Given the description of an element on the screen output the (x, y) to click on. 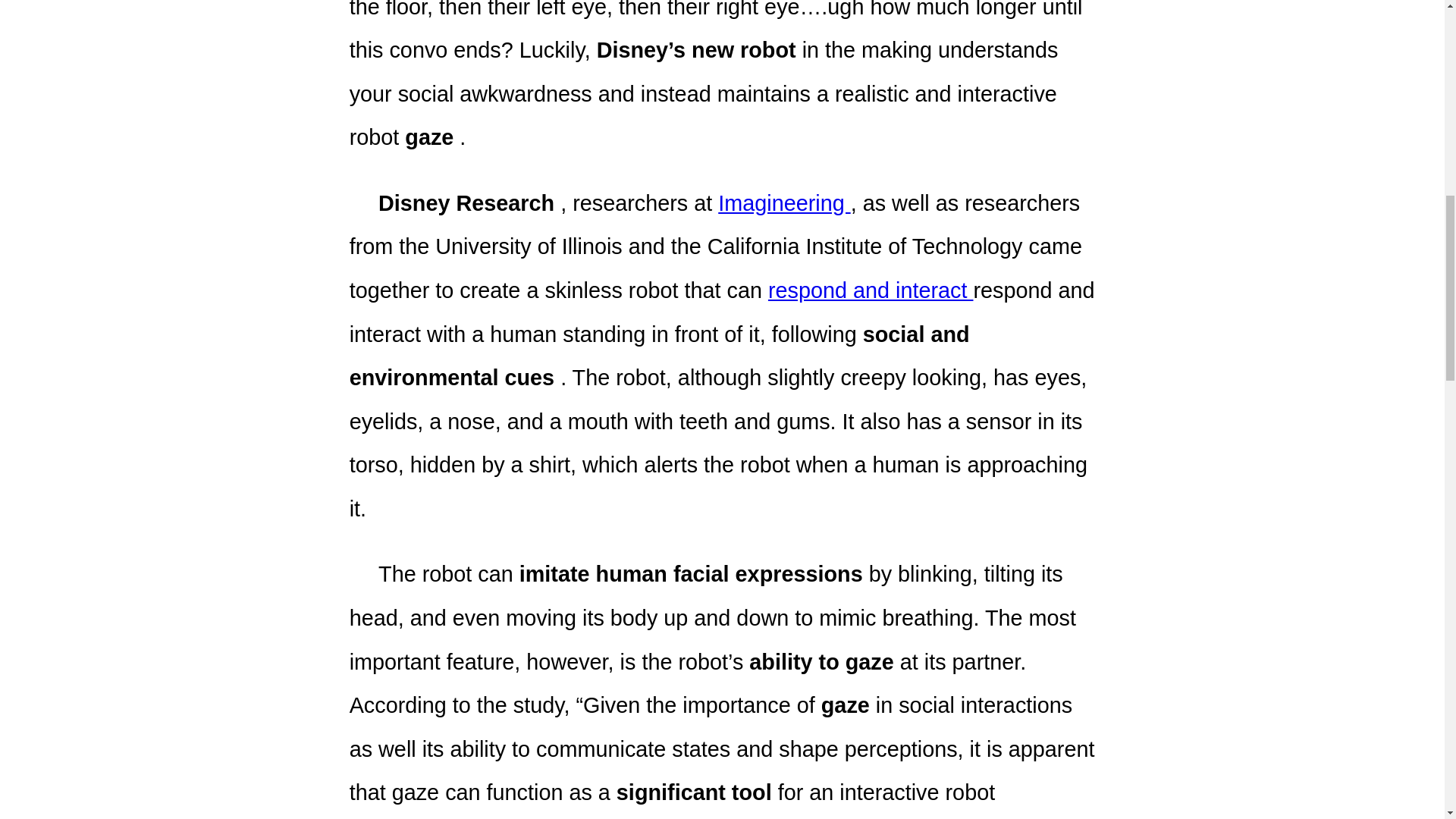
Imagineering (783, 202)
respond and interact (871, 290)
